Given the description of an element on the screen output the (x, y) to click on. 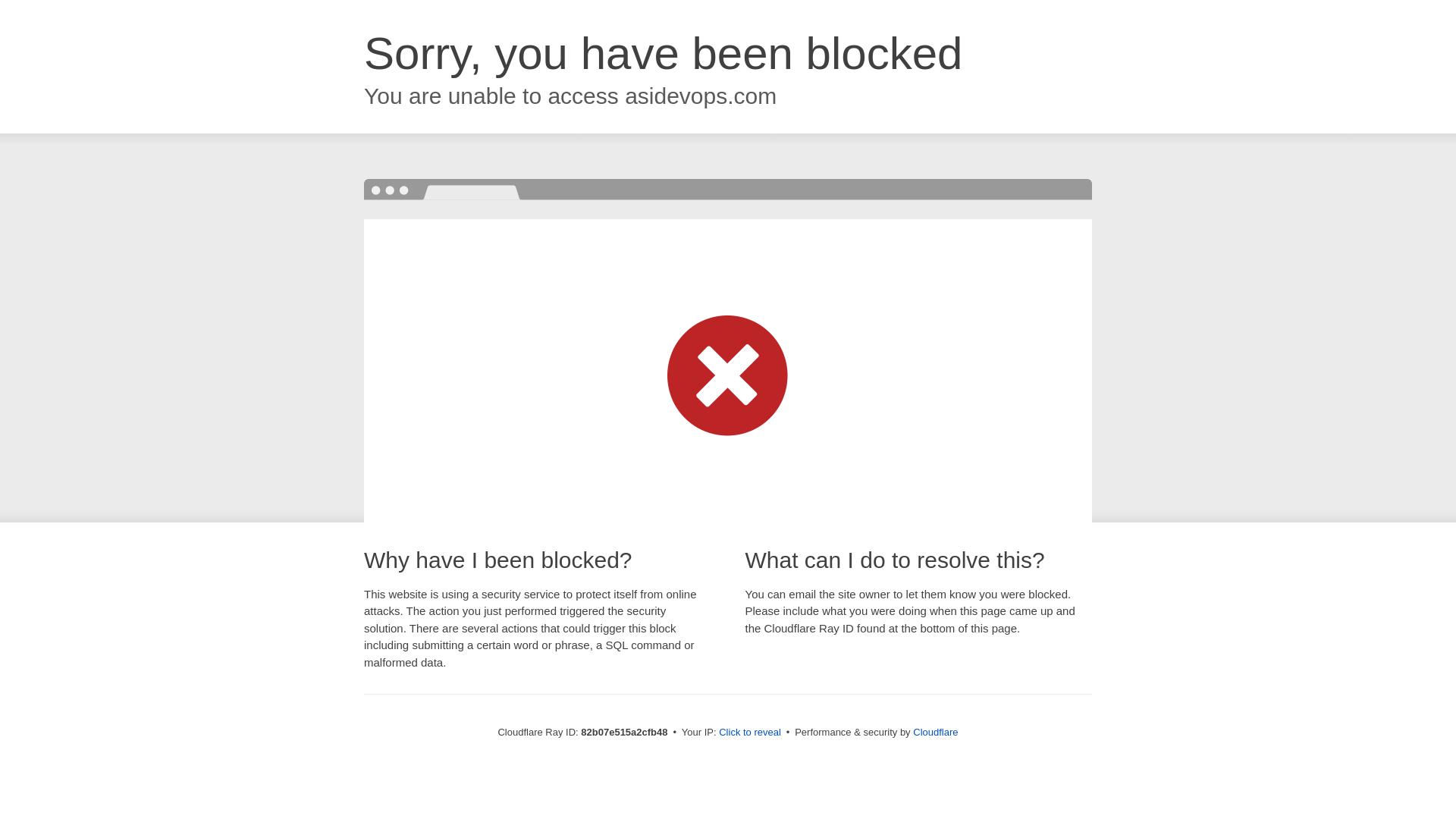
Cloudflare Element type: text (935, 731)
Click to reveal Element type: text (749, 732)
